Given the description of an element on the screen output the (x, y) to click on. 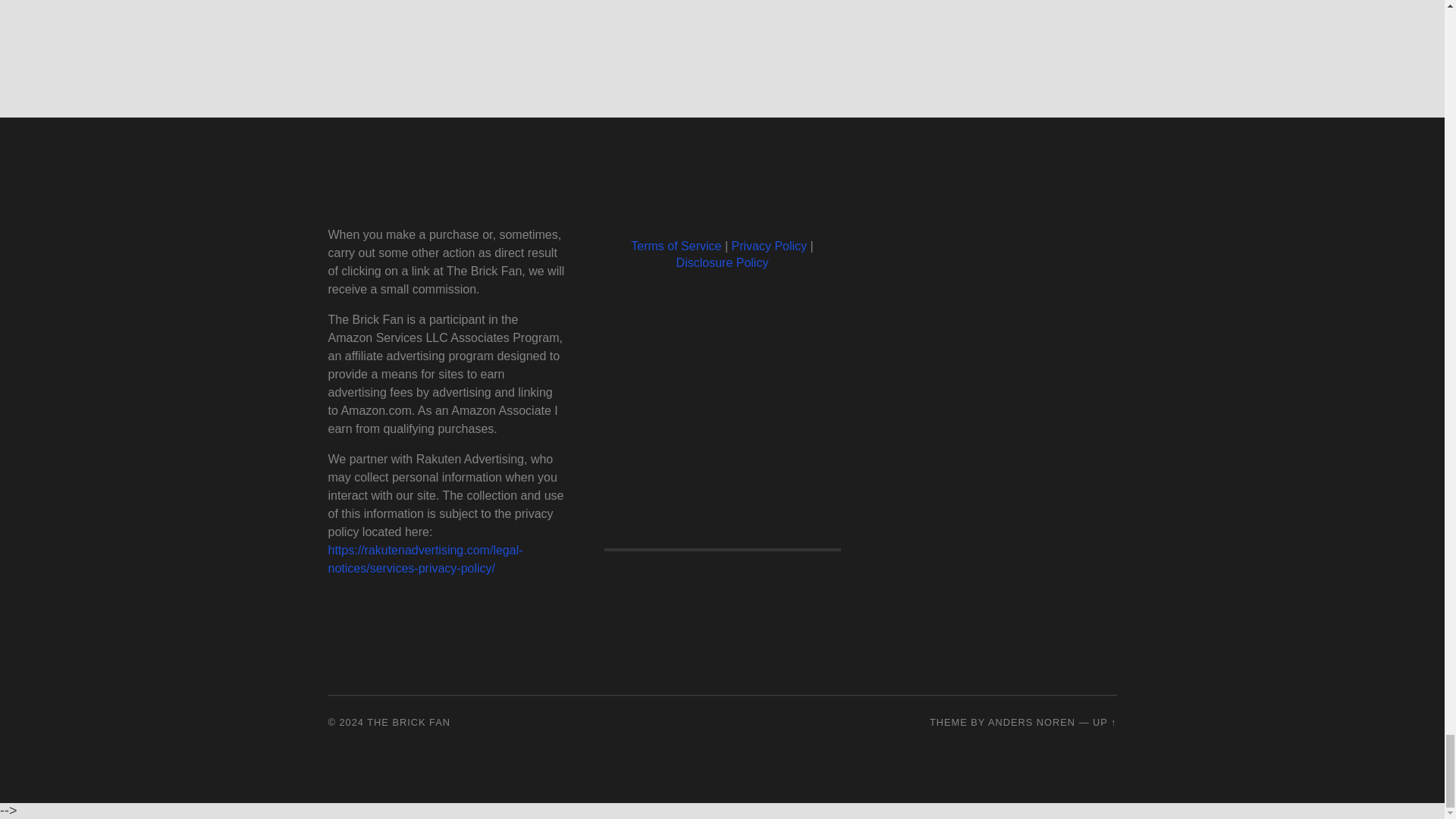
To the top (1104, 722)
